Given the description of an element on the screen output the (x, y) to click on. 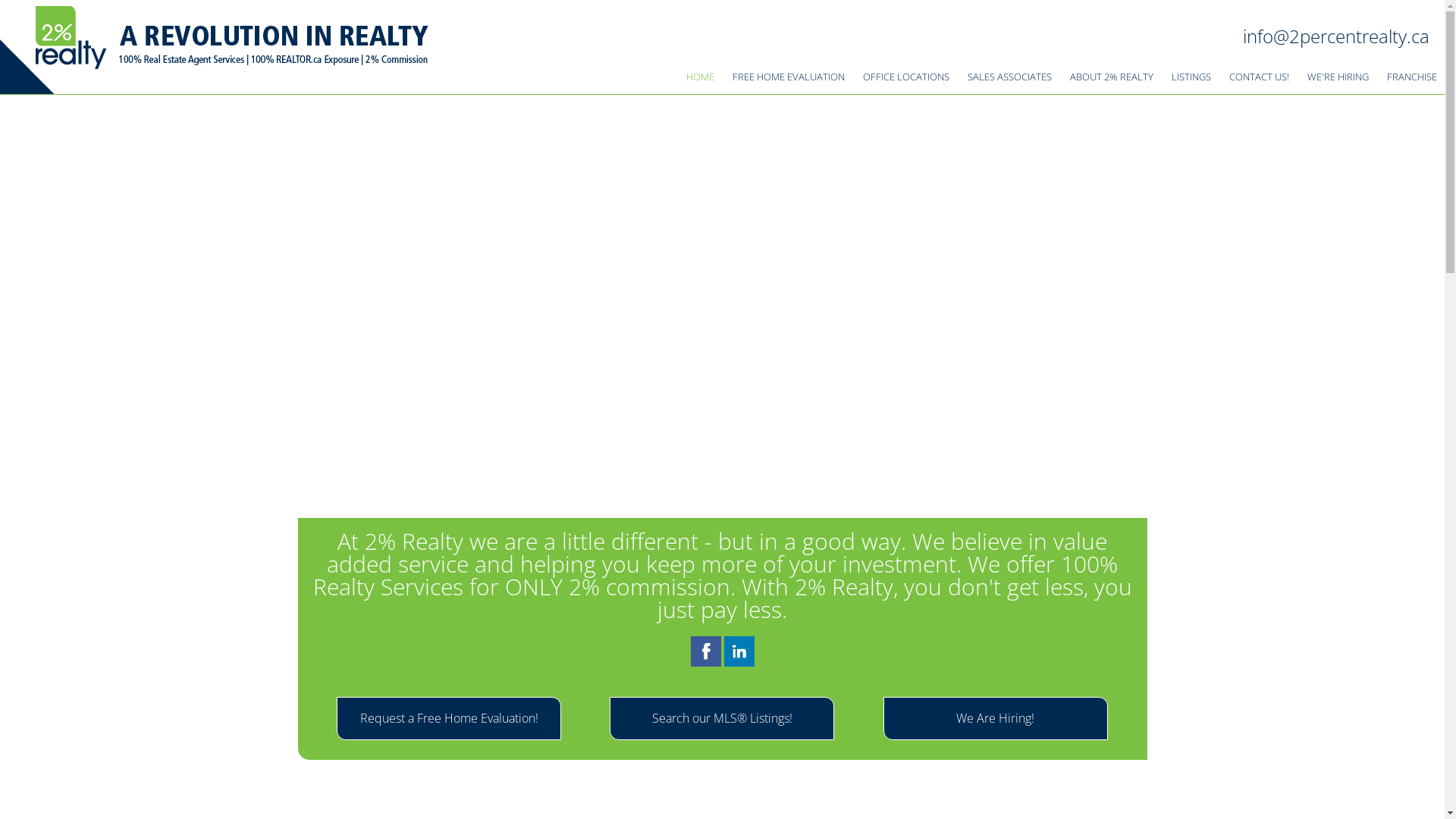
ABOUT 2% REALTY Element type: text (1111, 76)
info@2percentrealty.ca Element type: text (1335, 35)
OFFICE LOCATIONS Element type: text (906, 76)
WE'RE HIRING Element type: text (1337, 76)
LISTINGS Element type: text (1191, 76)
SALES ASSOCIATES Element type: text (1009, 76)
FRANCHISE Element type: text (1411, 76)
CONTACT US! Element type: text (1258, 76)
HOME Element type: text (699, 76)
We Are Hiring! Element type: text (995, 718)
Request a Free Home Evaluation! Element type: text (448, 718)
FREE HOME EVALUATION Element type: text (788, 76)
